Given the description of an element on the screen output the (x, y) to click on. 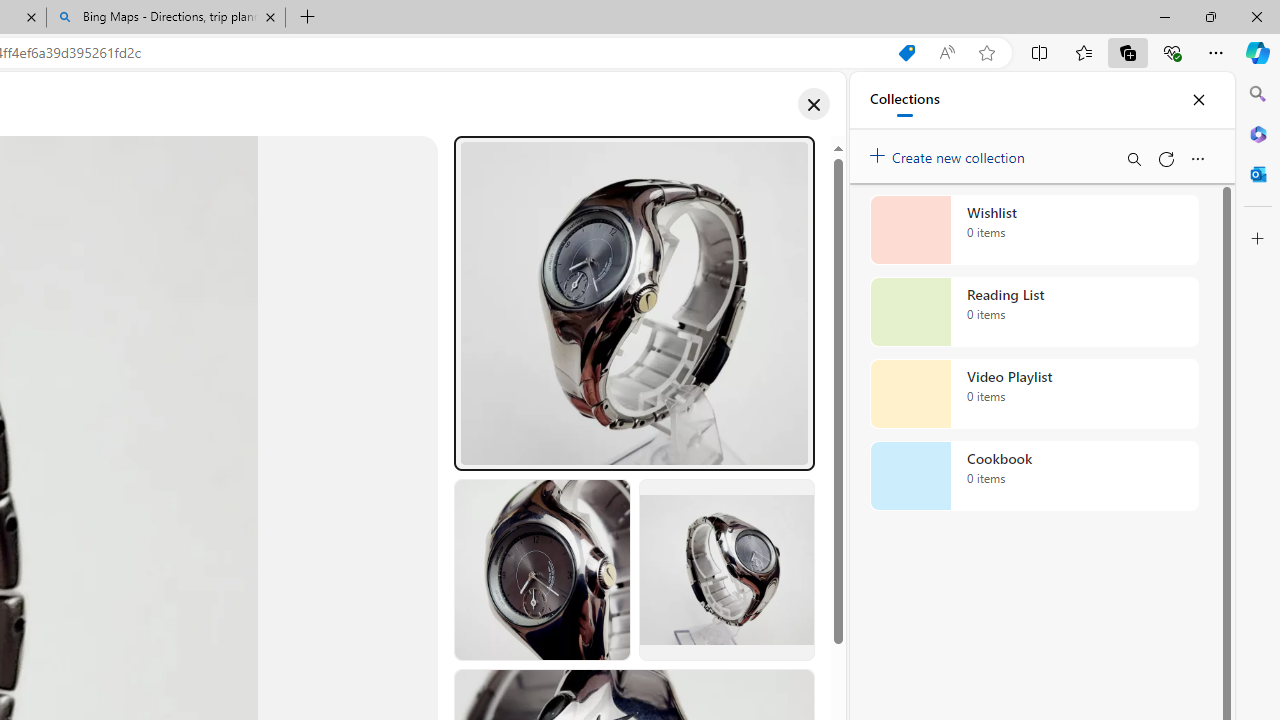
Close image gallery dialog (813, 103)
Create new collection (950, 153)
Video Playlist collection, 0 items (1034, 394)
You have the best price! (906, 53)
Cookbook collection, 0 items (1034, 475)
